Given the description of an element on the screen output the (x, y) to click on. 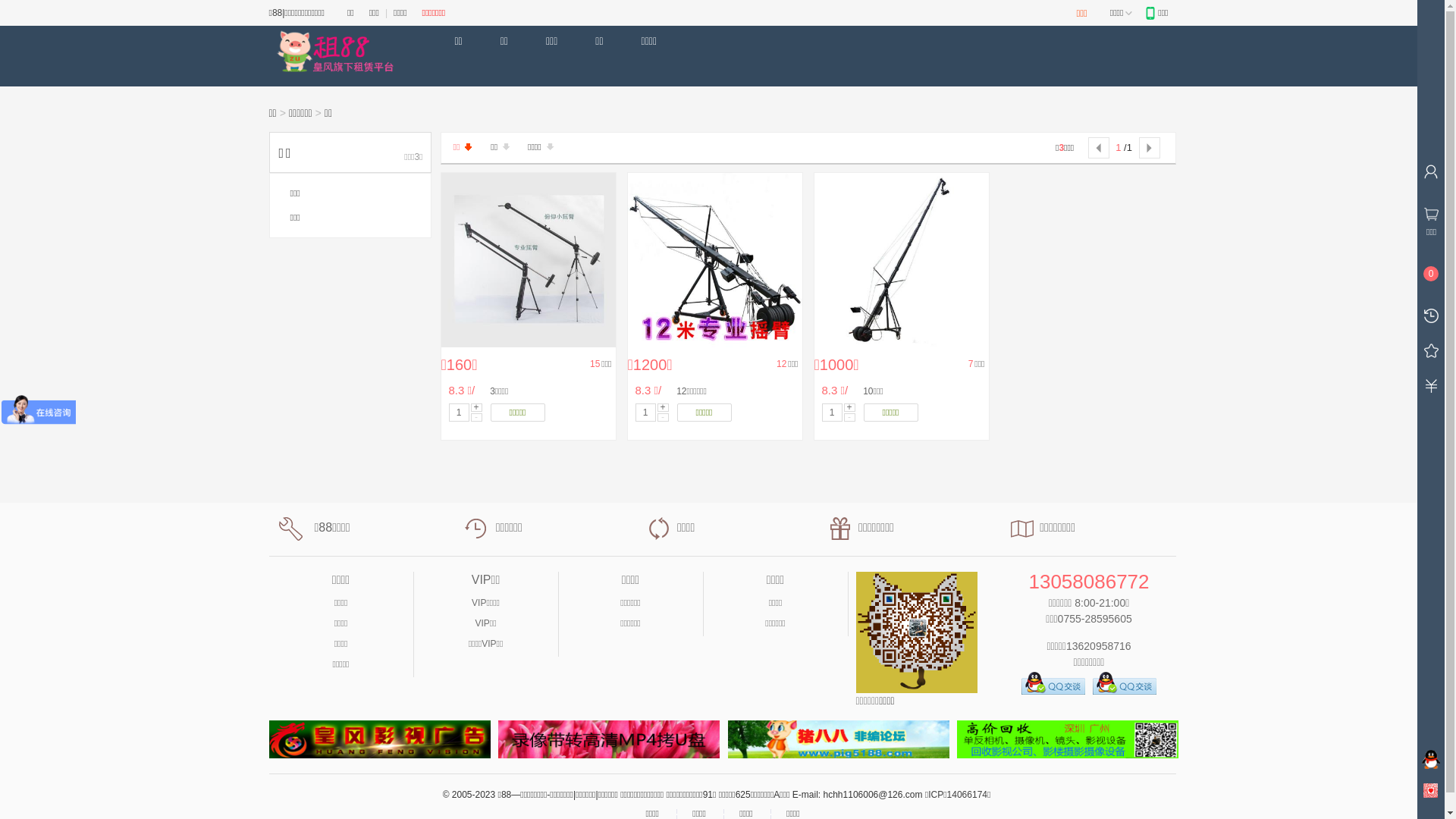
+ Element type: text (475, 407)
+ Element type: text (662, 407)
- Element type: text (848, 416)
- Element type: text (662, 416)
+ Element type: text (848, 407)
- Element type: text (475, 416)
